Given the description of an element on the screen output the (x, y) to click on. 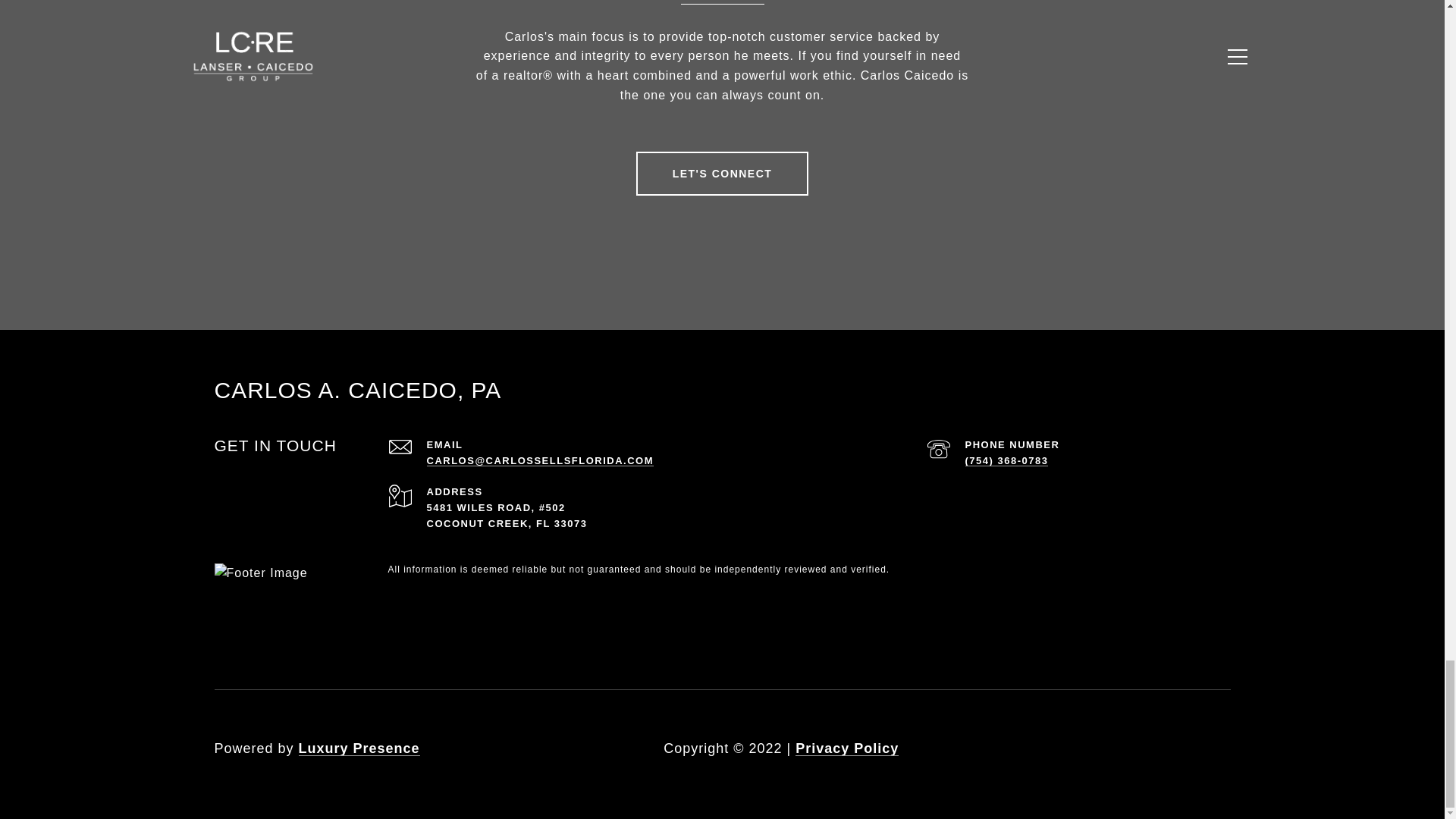
LET'S CONNECT (722, 173)
